Given the description of an element on the screen output the (x, y) to click on. 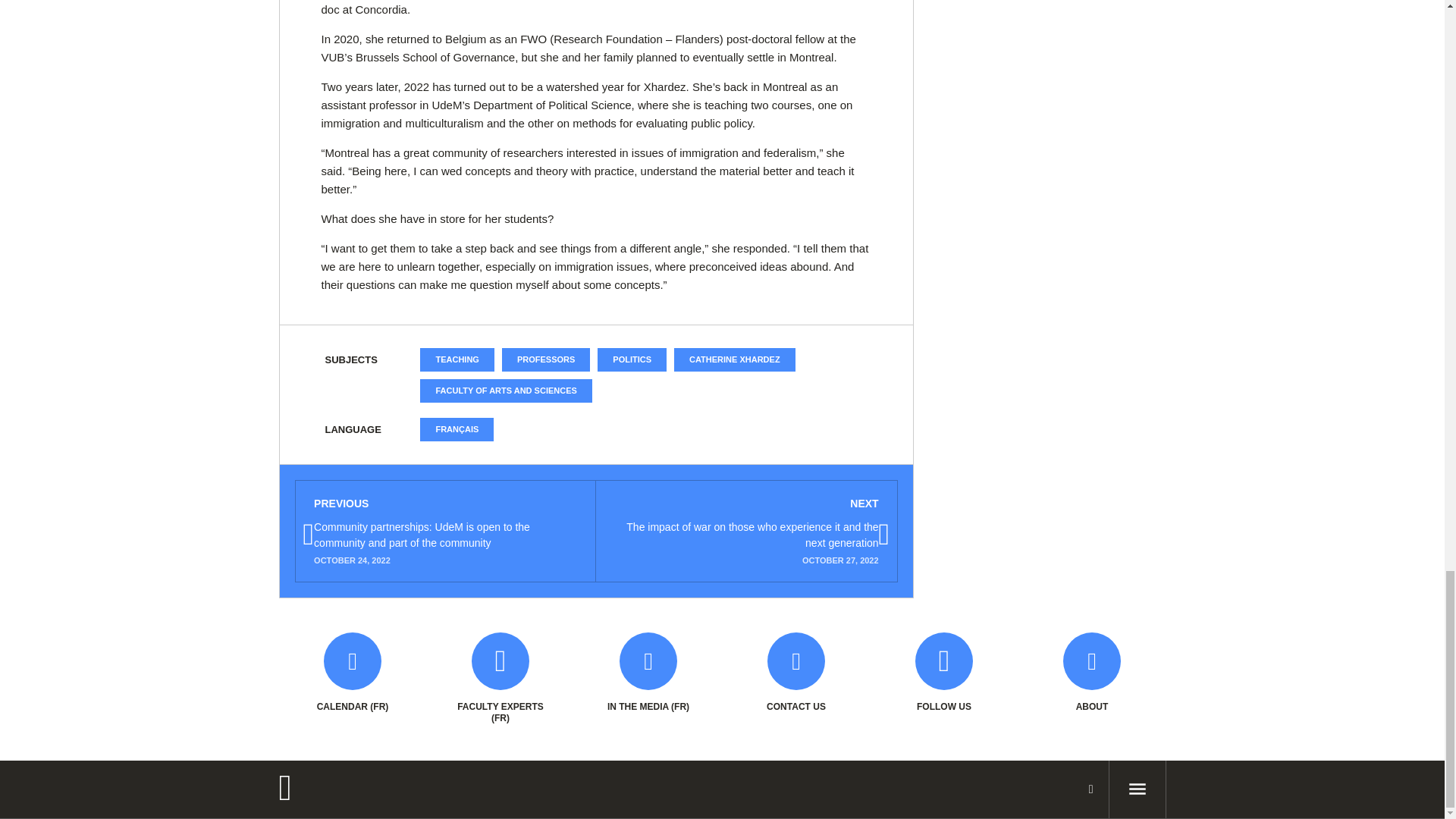
FACULTY OF ARTS AND SCIENCES (505, 390)
PROFESSORS (545, 359)
TEACHING (456, 359)
CATHERINE XHARDEZ (734, 359)
POLITICS (631, 359)
